Given the description of an element on the screen output the (x, y) to click on. 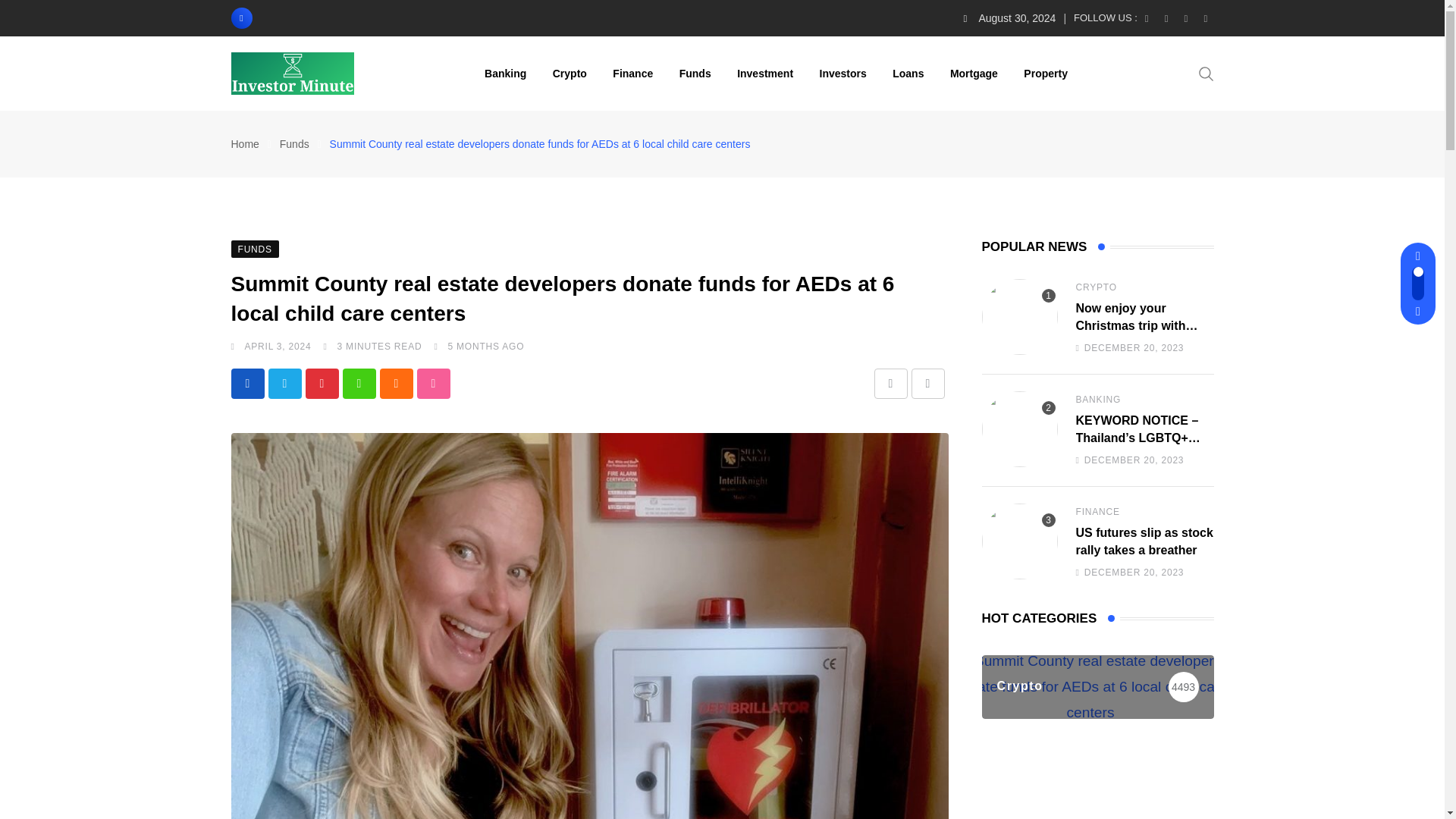
Investment (765, 73)
Search (1205, 72)
FUNDS (254, 247)
Investors (842, 73)
Home (244, 143)
US futures slip as stock rally takes a breather (1019, 541)
Mortgage (974, 73)
Property (1044, 73)
Funds (293, 143)
